Given the description of an element on the screen output the (x, y) to click on. 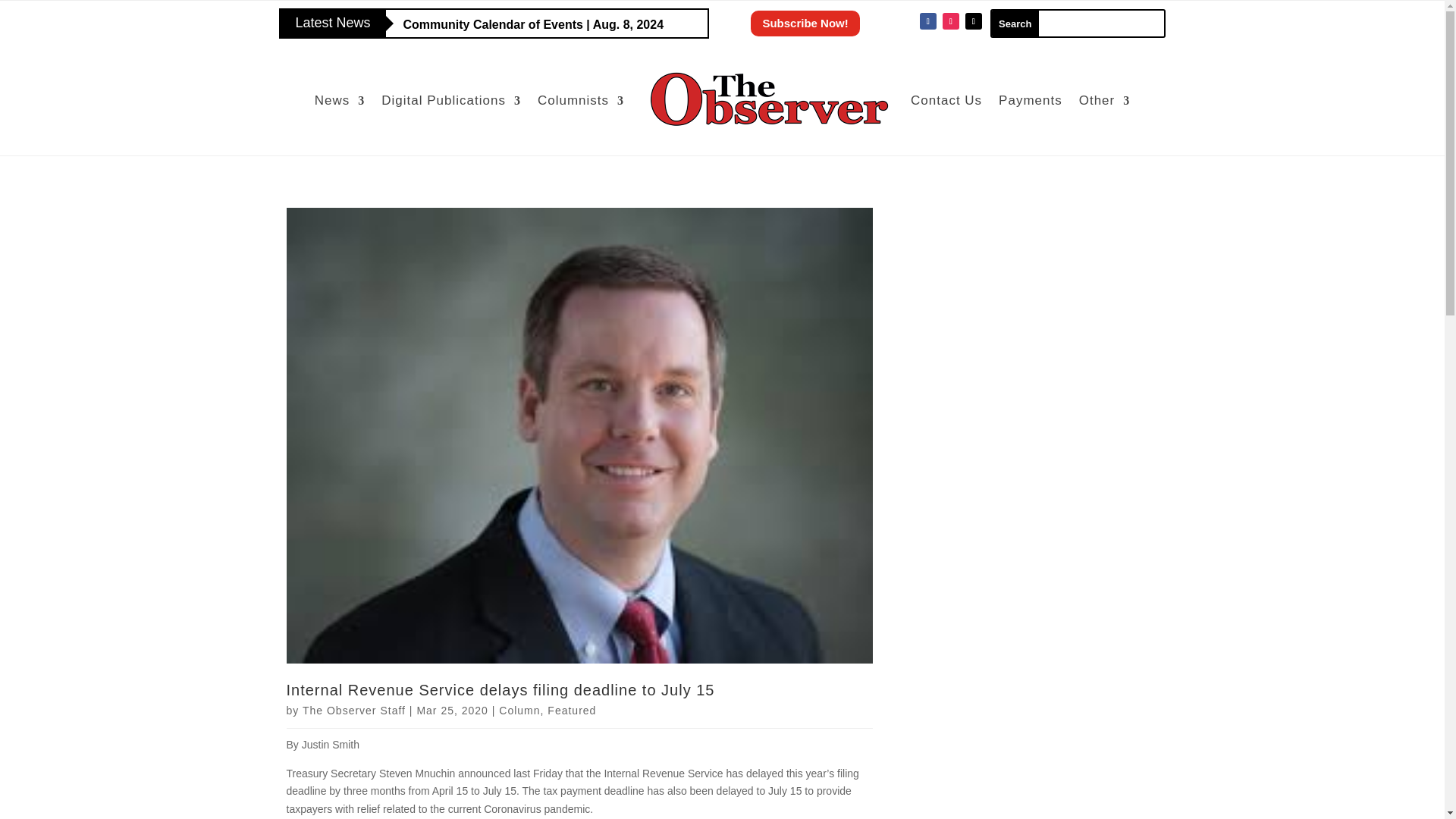
Posts by The Observer Staff (354, 710)
Search (1015, 23)
Follow on Facebook (928, 21)
Subscribe Now! (804, 23)
Follow on Instagram (950, 21)
Digital Publications (451, 100)
Search (1015, 23)
Columnists (580, 100)
Follow on X (973, 21)
Search (1015, 23)
